Given the description of an element on the screen output the (x, y) to click on. 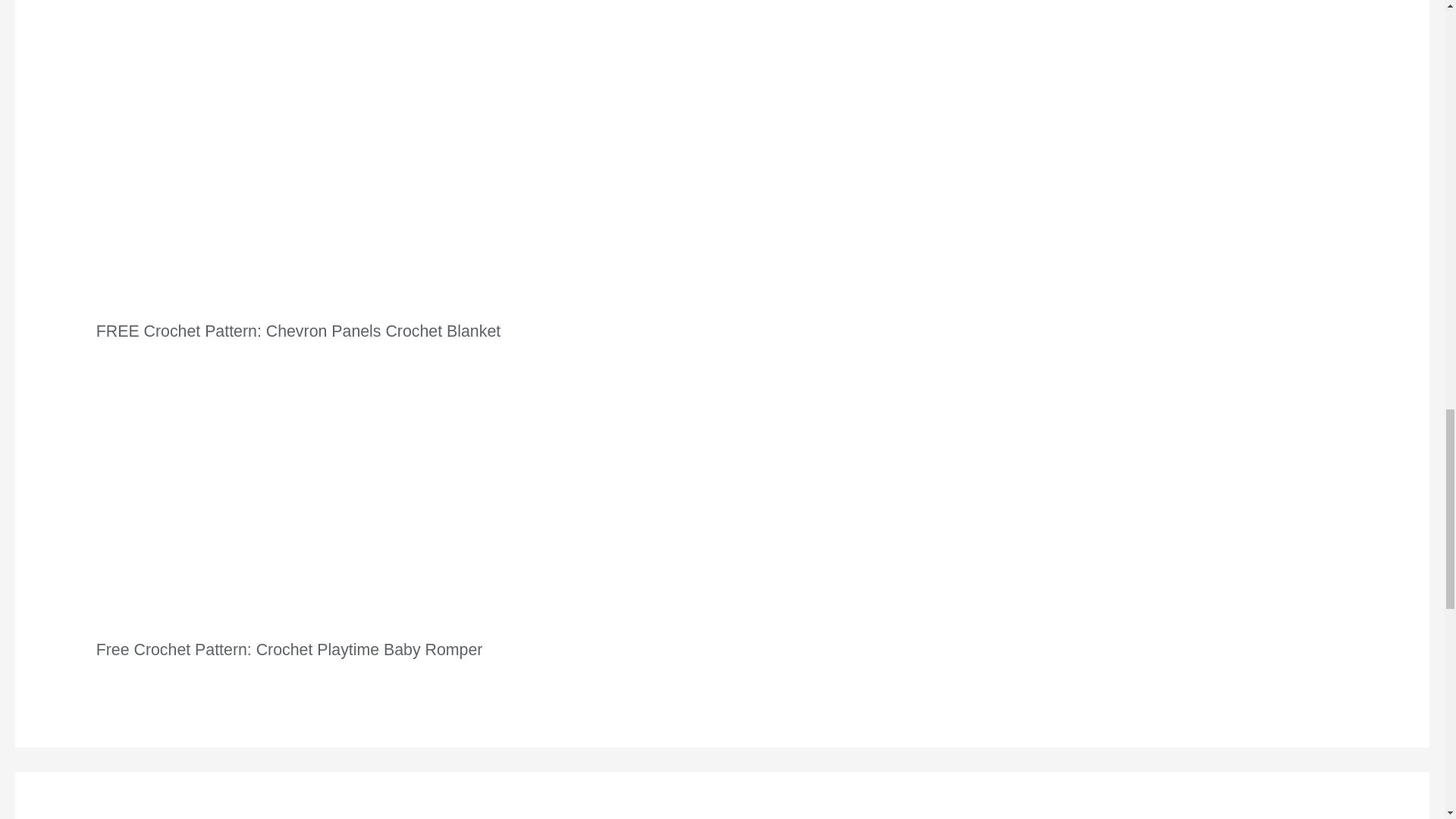
Free Crochet Pattern: Crochet Playtime Baby Romper (289, 649)
FREE Crochet Pattern: Chevron Panels Crochet Blanket (298, 331)
